Given the description of an element on the screen output the (x, y) to click on. 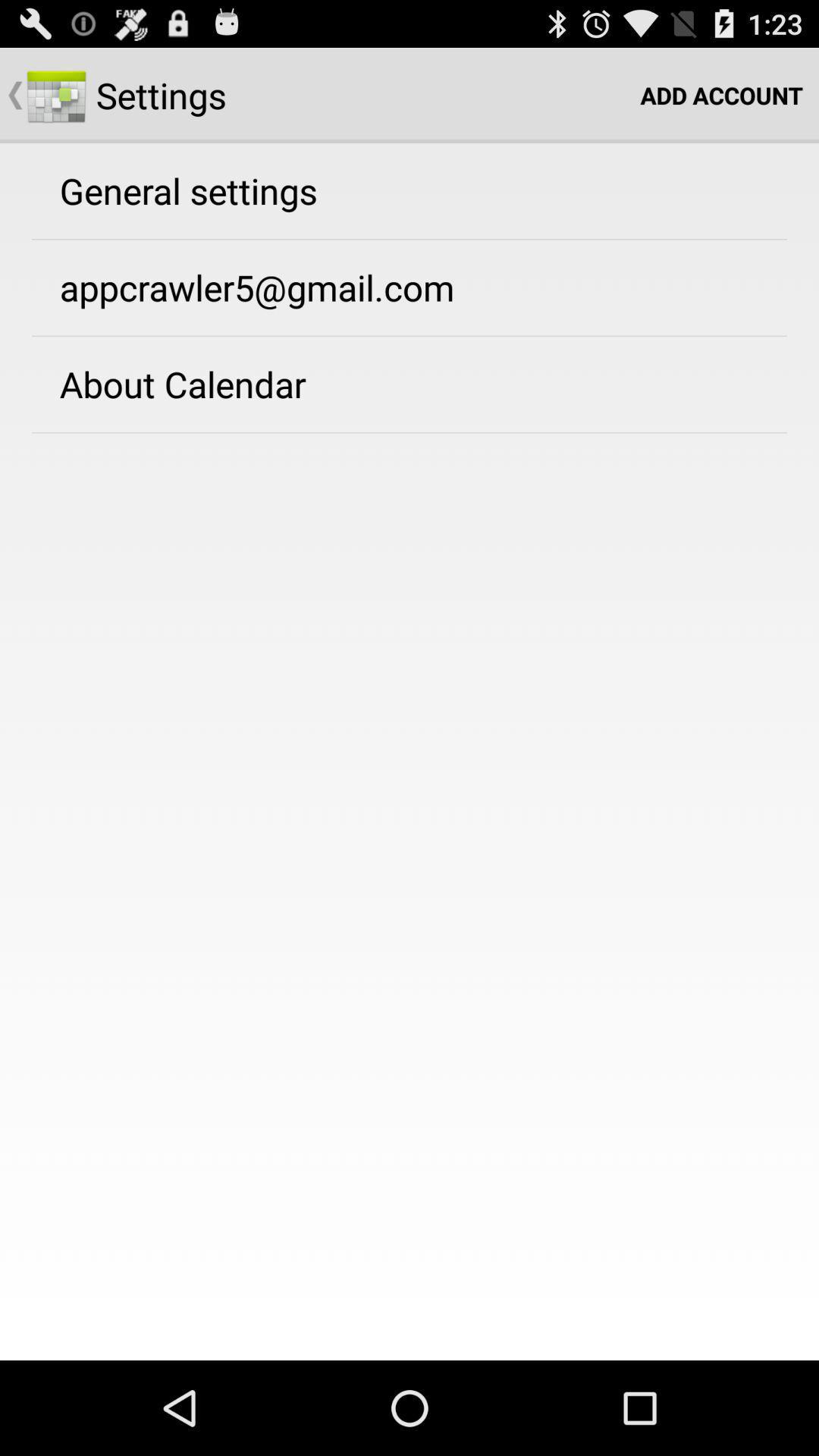
swipe until the add account (721, 95)
